Given the description of an element on the screen output the (x, y) to click on. 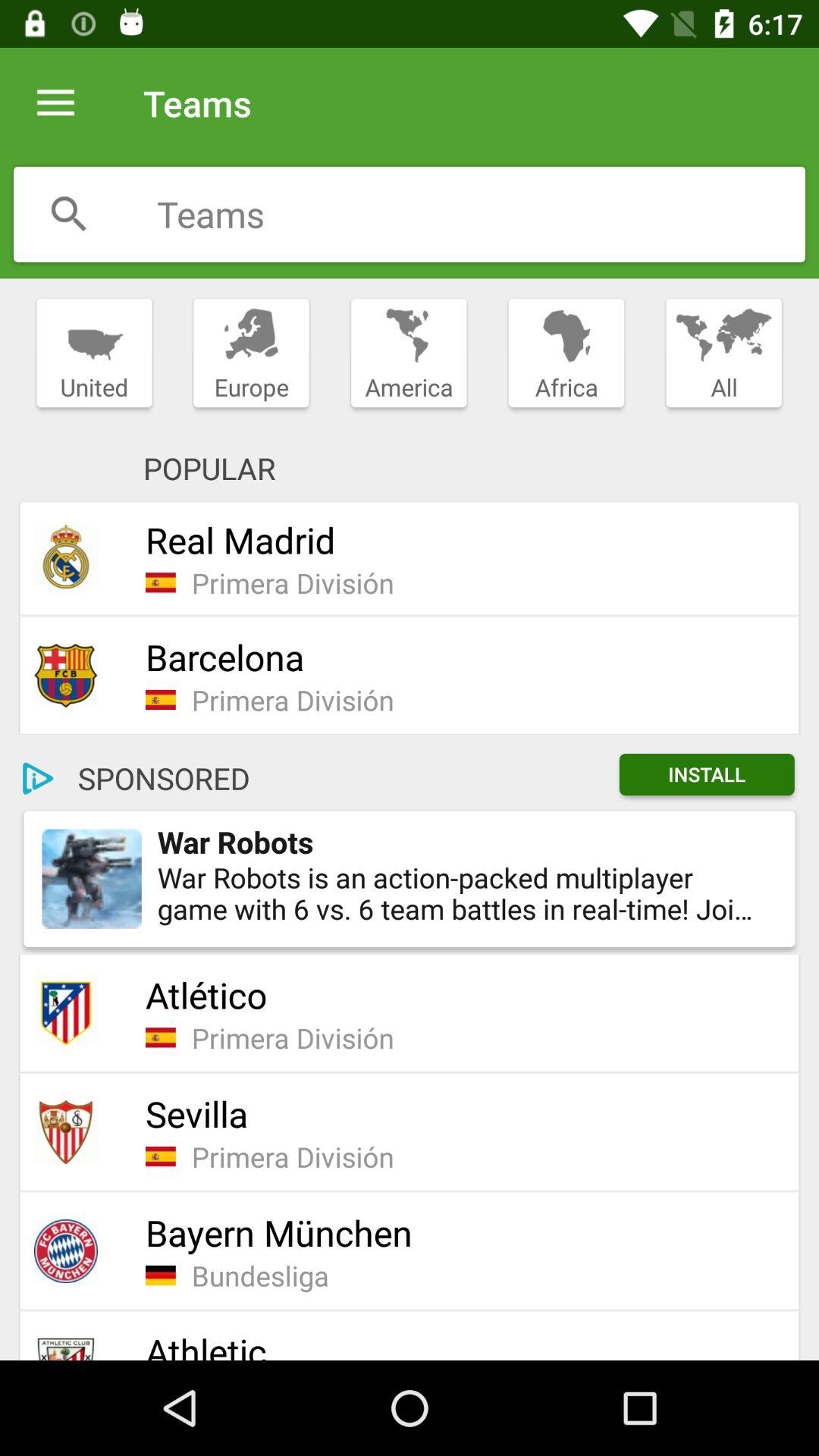
search button (69, 214)
